Given the description of an element on the screen output the (x, y) to click on. 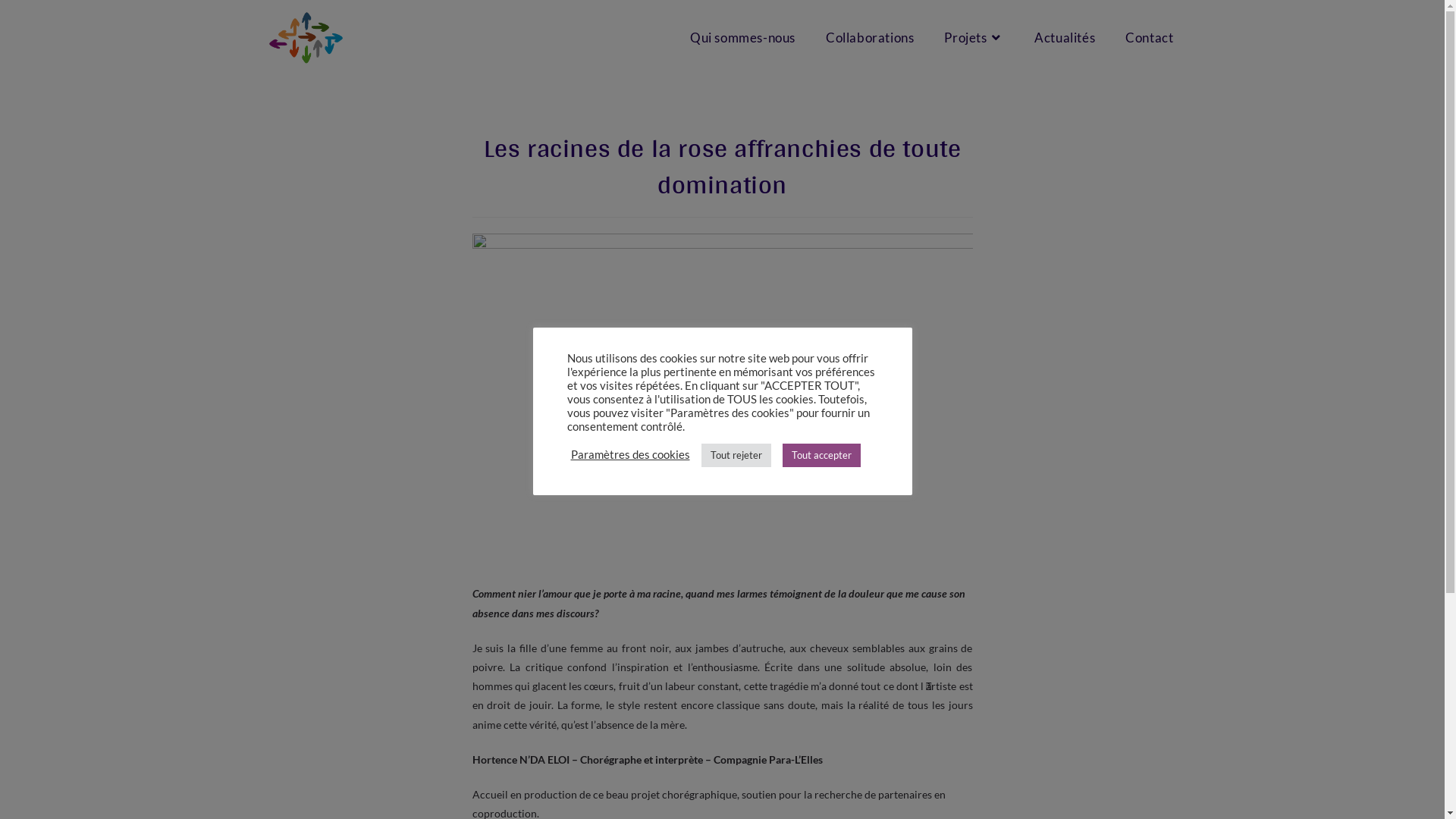
Tout accepter Element type: text (821, 454)
Projets Element type: text (973, 37)
Contact Element type: text (1149, 37)
Collaborations Element type: text (869, 37)
Tout rejeter Element type: text (735, 454)
Qui sommes-nous Element type: text (742, 37)
